Given the description of an element on the screen output the (x, y) to click on. 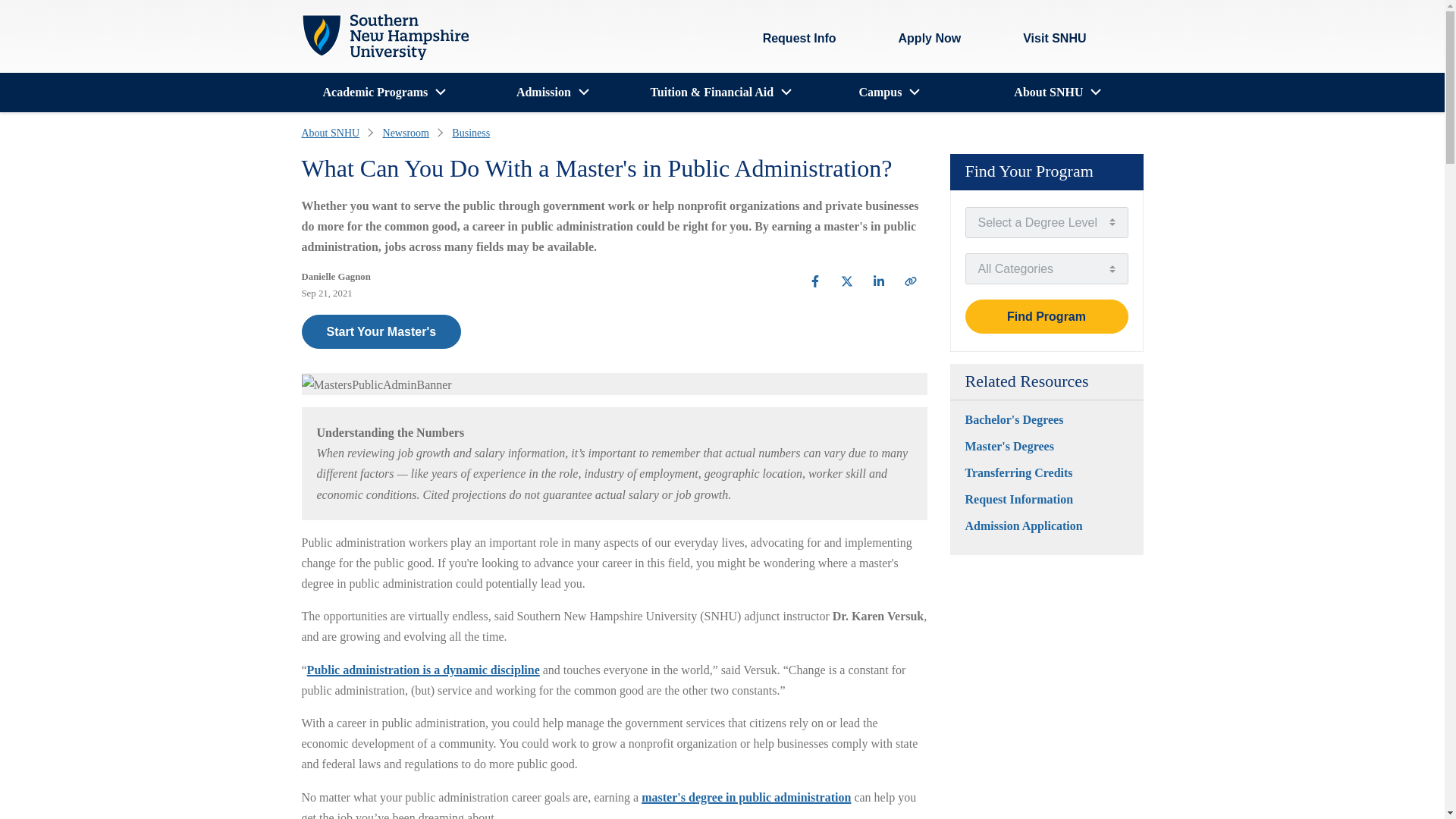
Skip to main content (315, 10)
Request Info (799, 38)
Admission (543, 91)
Visit SNHU (1041, 38)
Southern New Hampshire University (384, 36)
Academic Programs (375, 91)
Apply Now (930, 38)
